Given the description of an element on the screen output the (x, y) to click on. 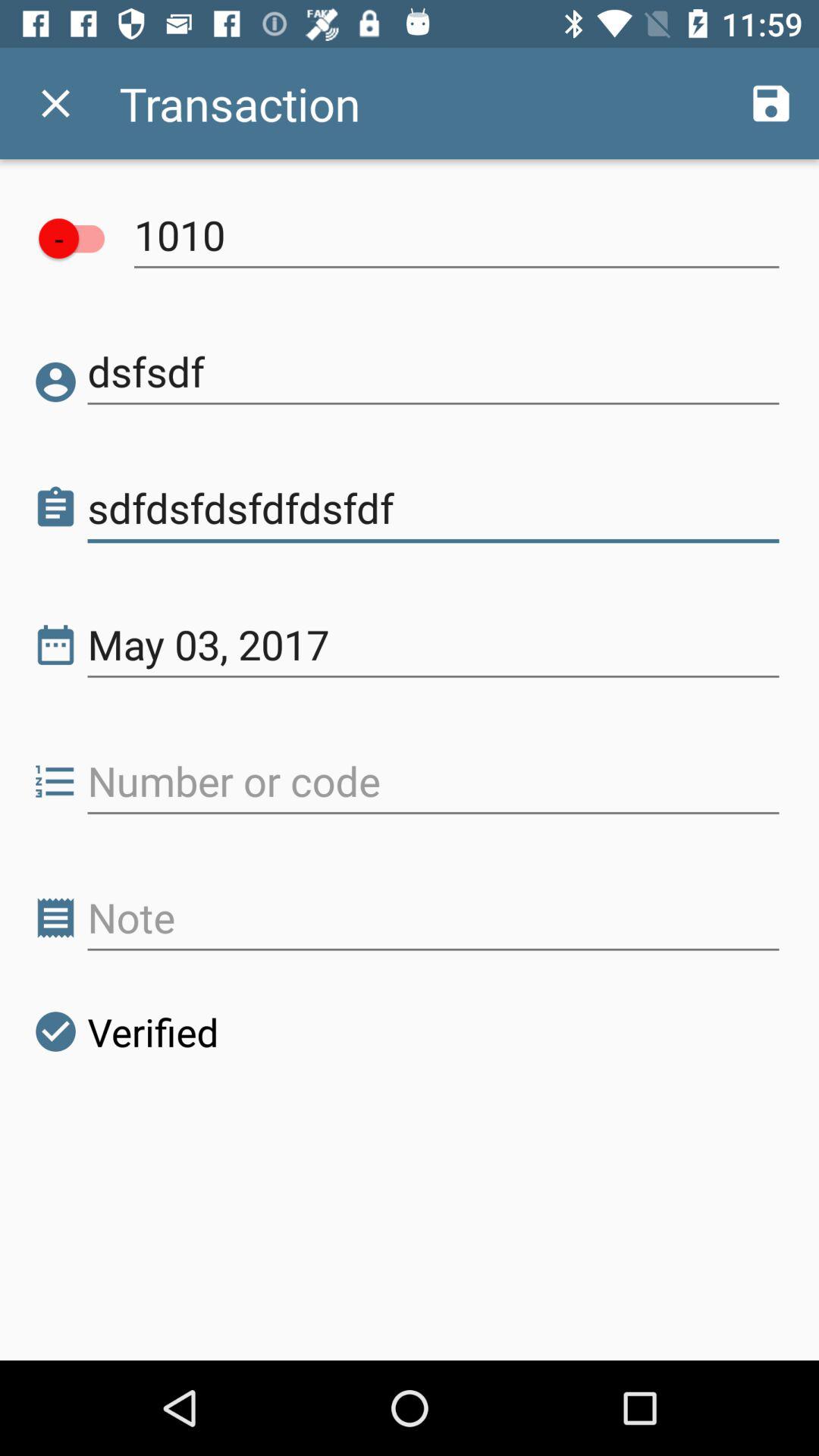
turn on item above 1010 icon (771, 103)
